Given the description of an element on the screen output the (x, y) to click on. 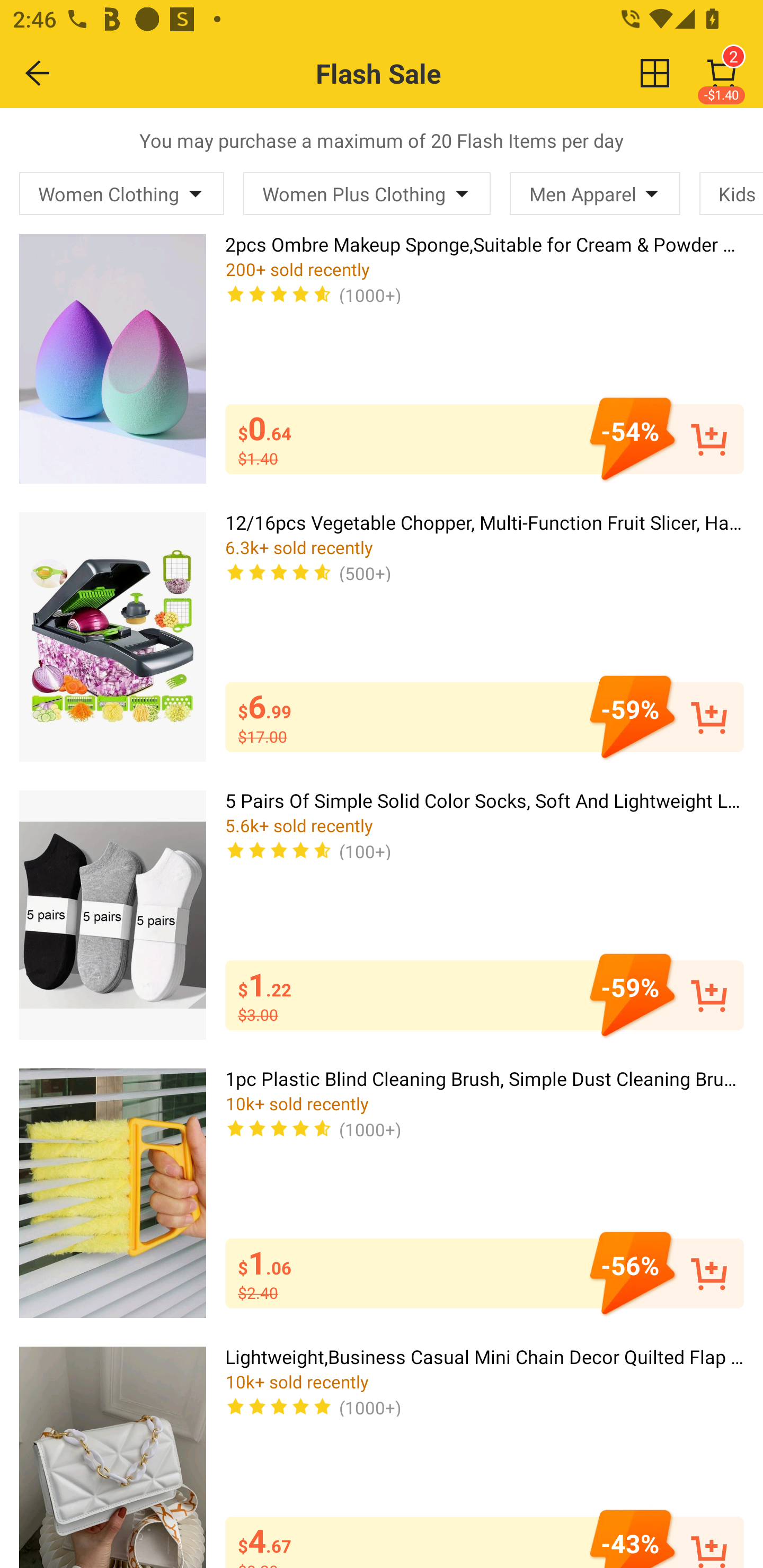
Flash Sale change view 2 -$1.40 (419, 72)
2 -$1.40 (721, 72)
change view (654, 72)
BACK (38, 72)
Women Clothing (121, 193)
Women Plus Clothing (366, 193)
Men Apparel (594, 193)
